Given the description of an element on the screen output the (x, y) to click on. 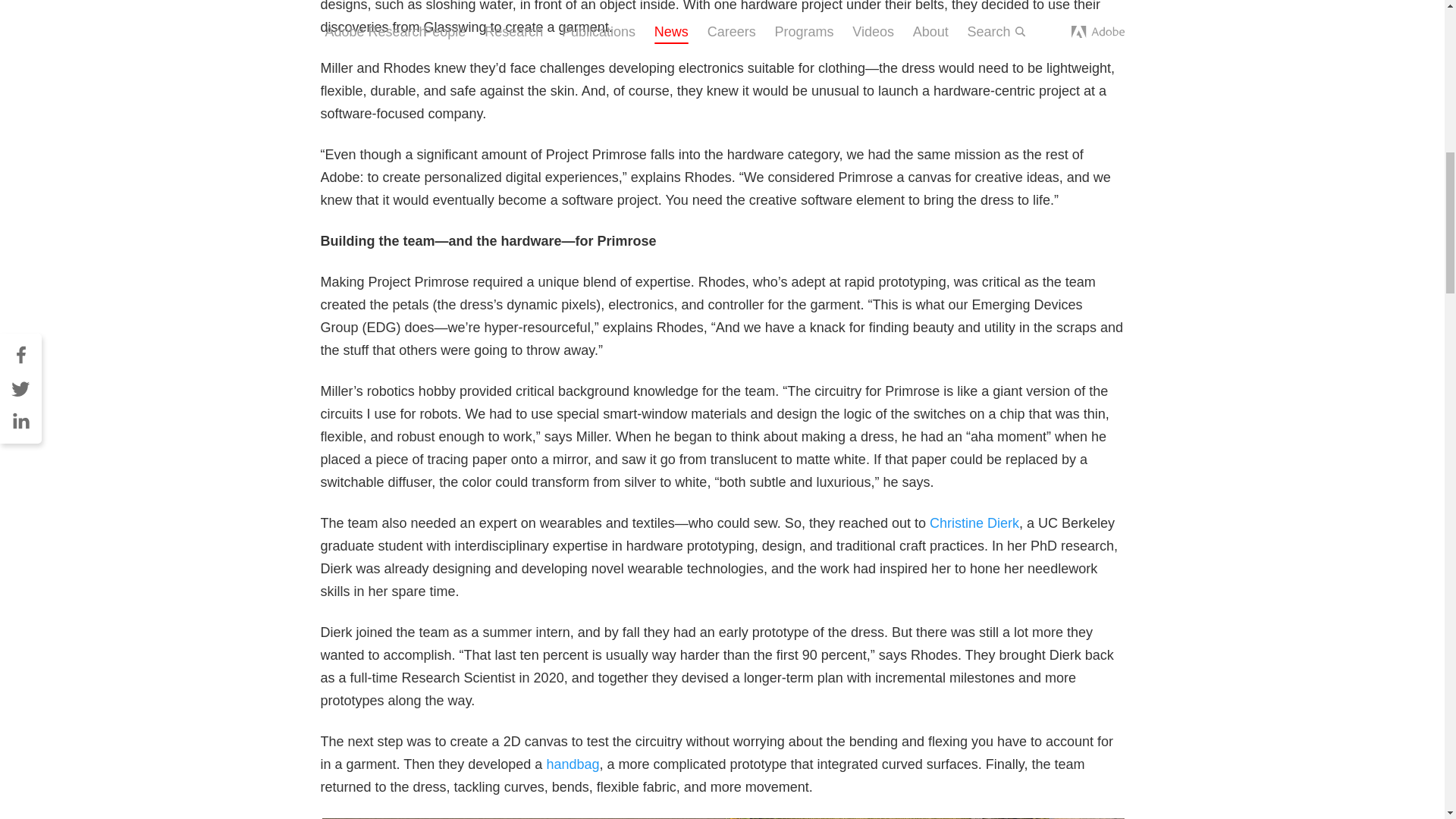
Christine Dierk (974, 522)
handbag (572, 764)
